Given the description of an element on the screen output the (x, y) to click on. 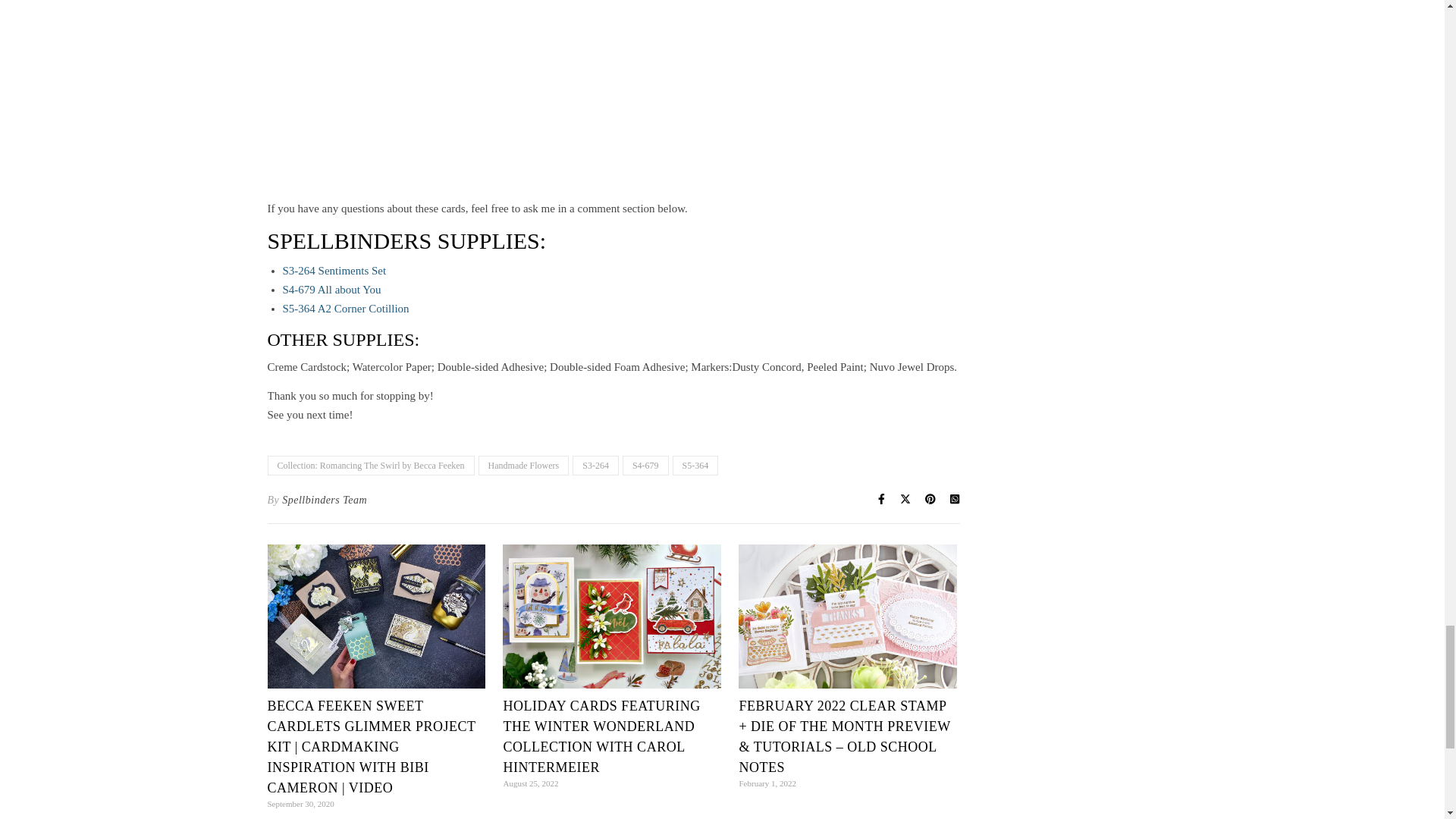
Posts by Spellbinders Team (324, 499)
